Given the description of an element on the screen output the (x, y) to click on. 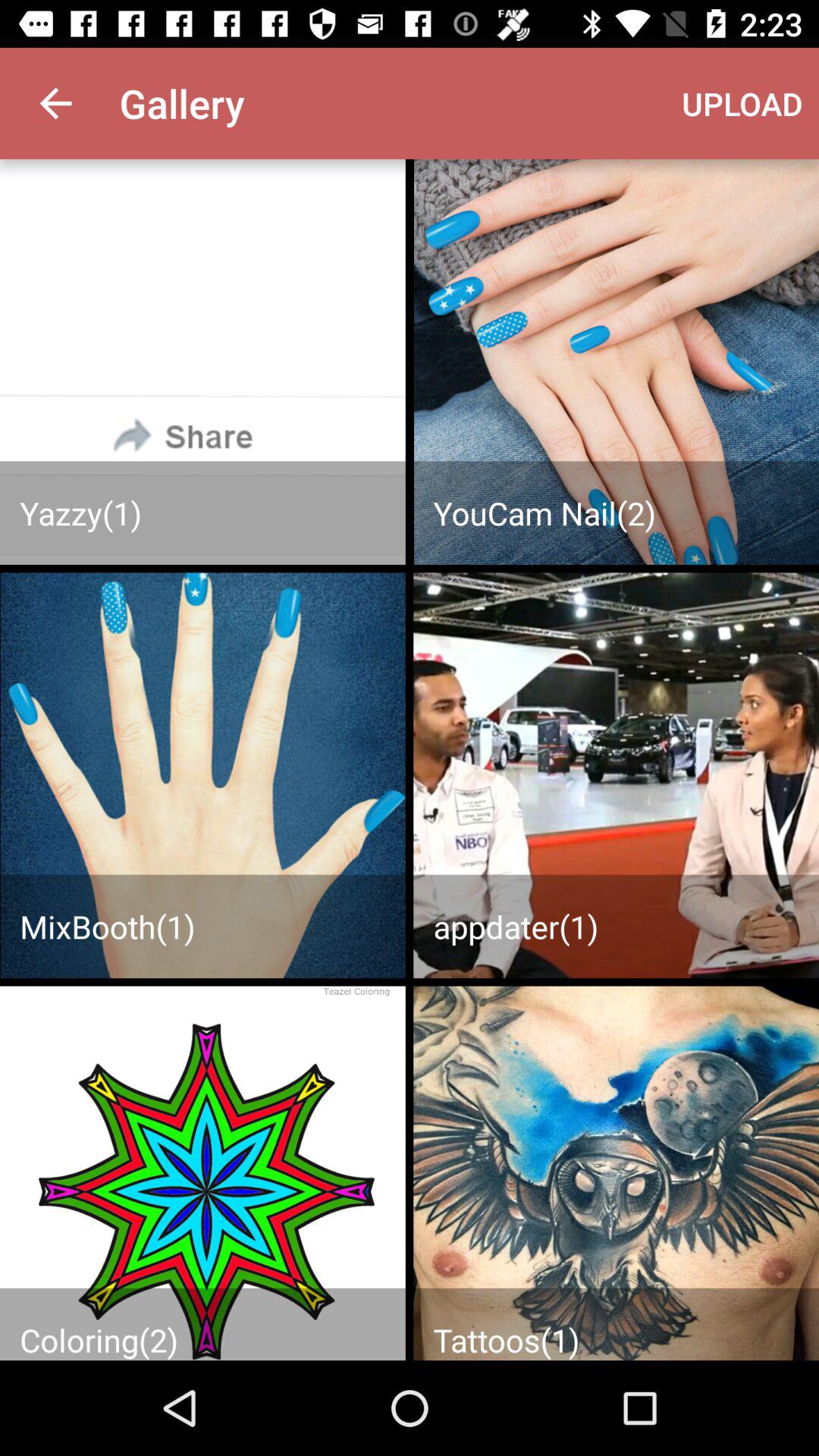
view album (202, 361)
